Given the description of an element on the screen output the (x, y) to click on. 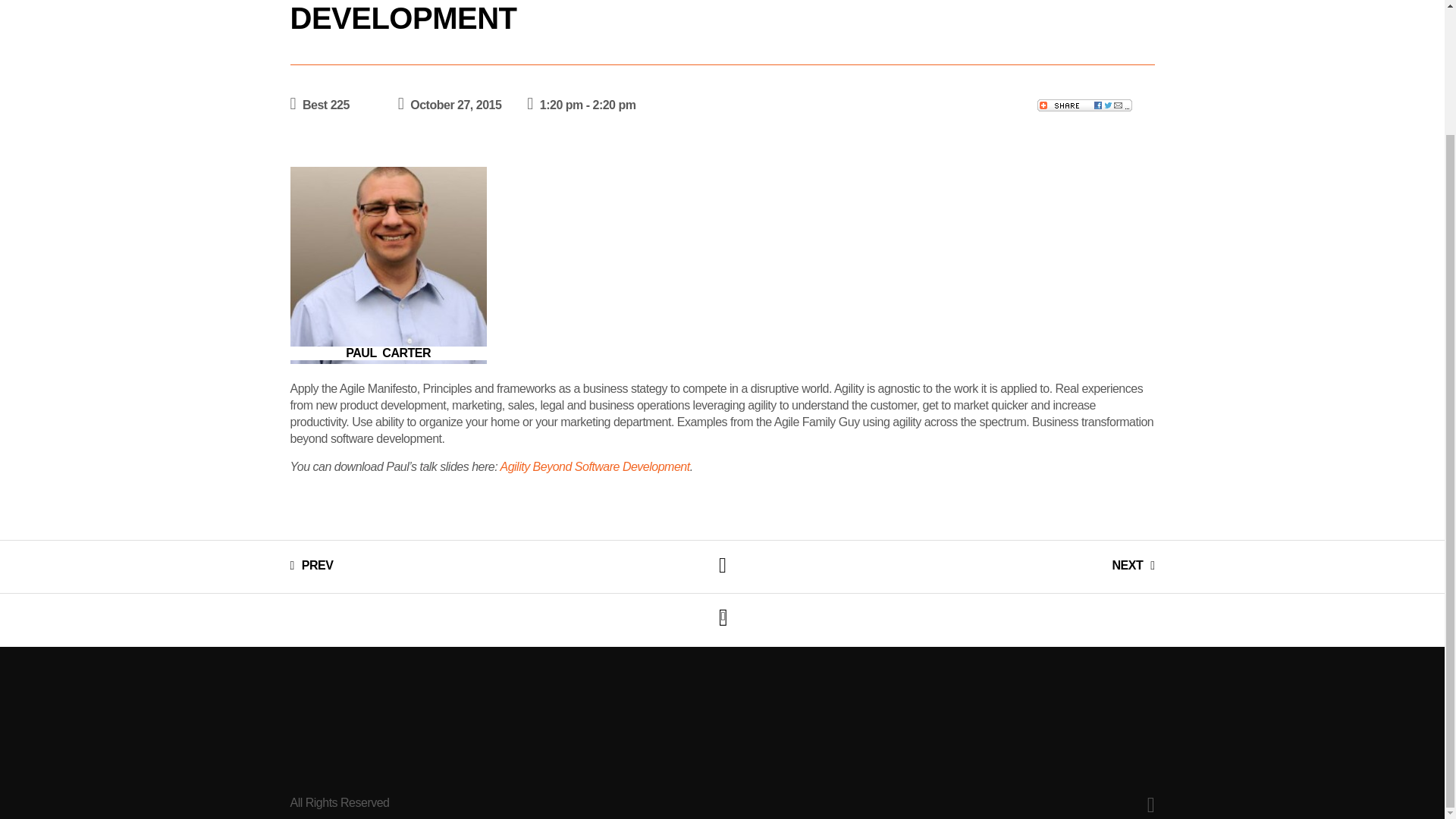
PREV (311, 565)
NEXT (1133, 565)
Agility Beyond Software Development (593, 466)
Look Beyond Requirements Documentation Methods (311, 565)
